Given the description of an element on the screen output the (x, y) to click on. 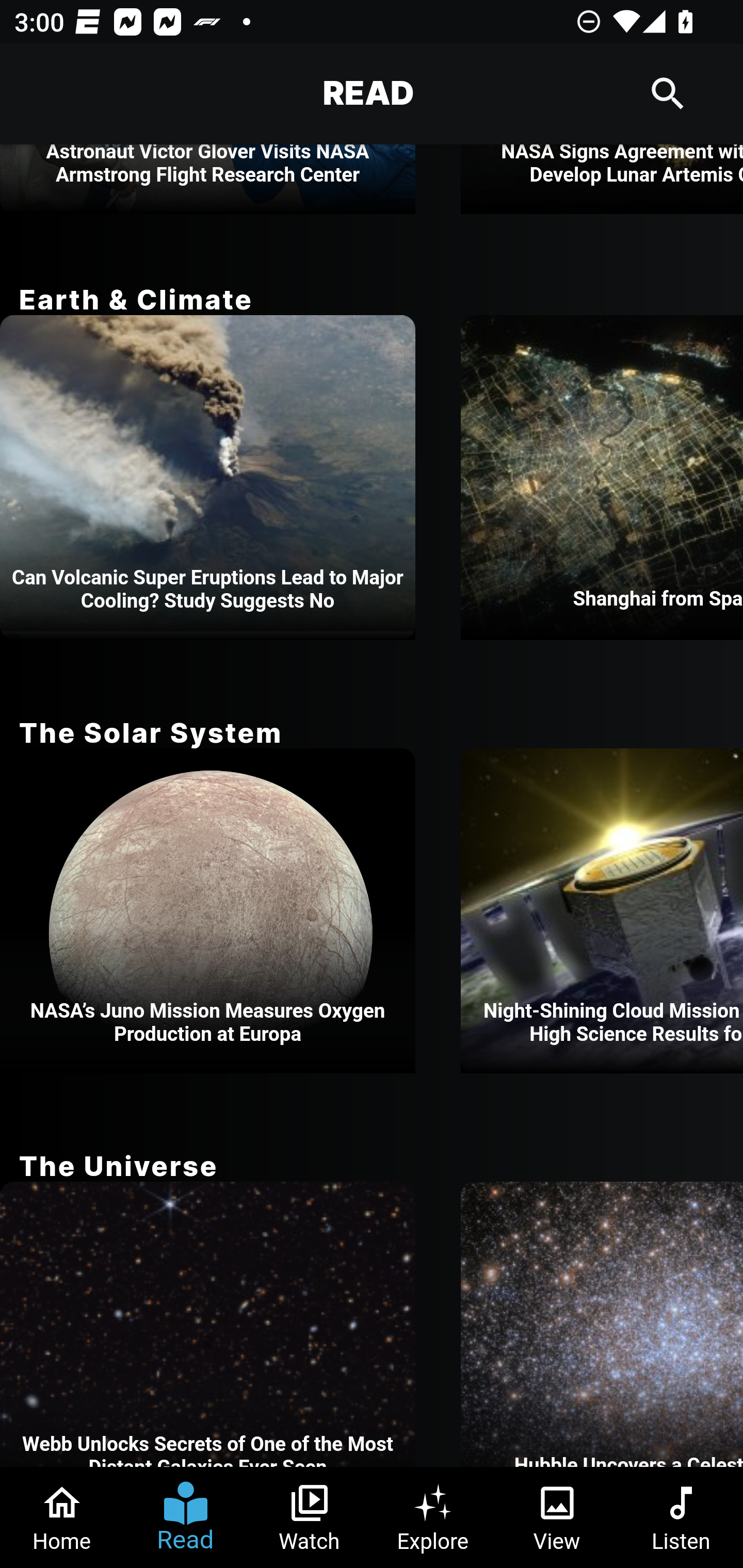
Shanghai from Space (601, 477)
Hubble Uncovers a Celestial Fossil (601, 1324)
Home
Tab 1 of 6 (62, 1517)
Read
Tab 2 of 6 (185, 1517)
Watch
Tab 3 of 6 (309, 1517)
Explore
Tab 4 of 6 (433, 1517)
View
Tab 5 of 6 (556, 1517)
Listen
Tab 6 of 6 (680, 1517)
